Given the description of an element on the screen output the (x, y) to click on. 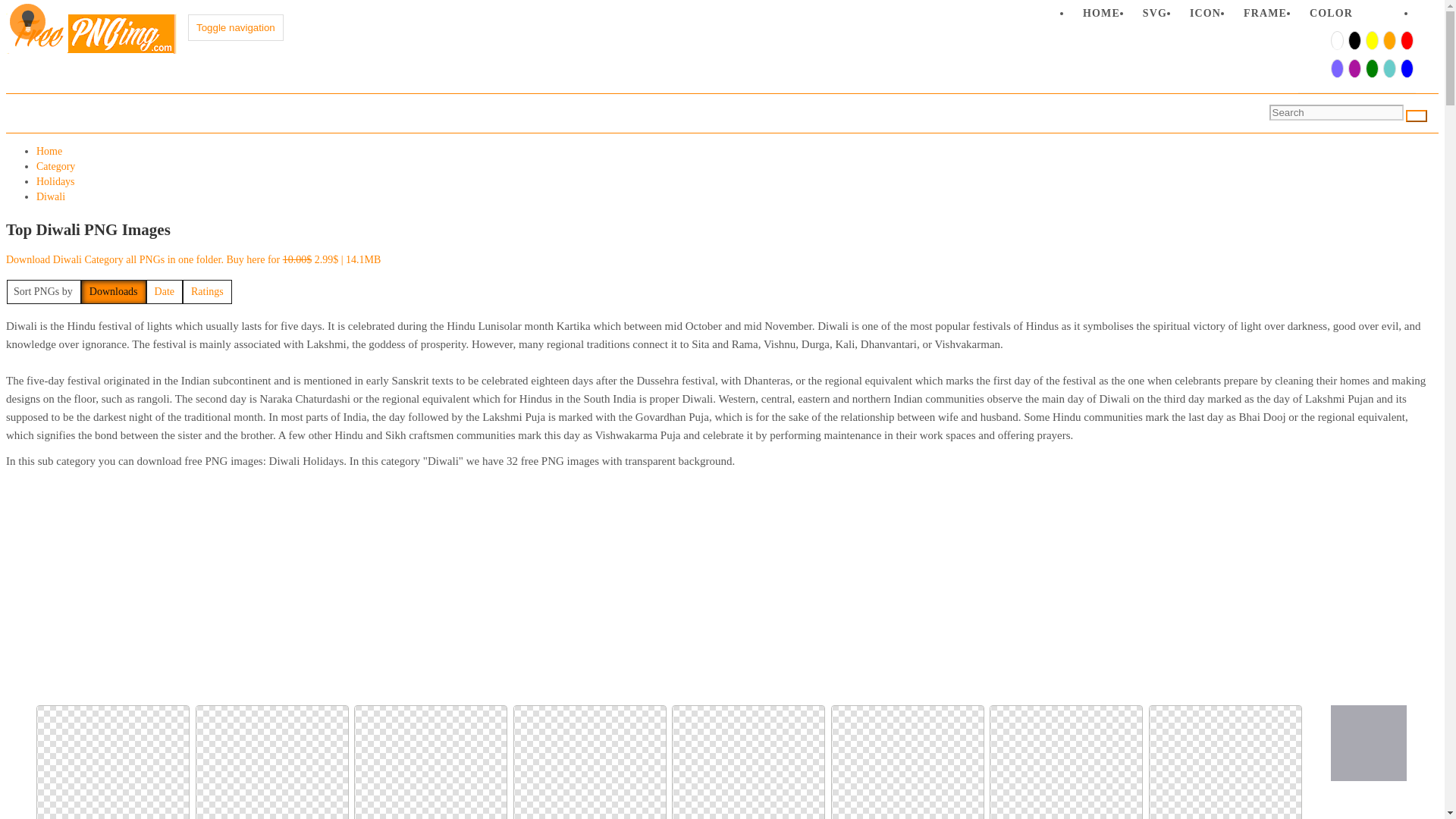
ICON (1204, 17)
Category (55, 165)
Date (165, 291)
SVG (1154, 17)
Holidays (55, 181)
Toggle navigation (235, 27)
Diwali (50, 196)
Downloads (114, 291)
Home (49, 151)
FRAME (1264, 17)
Ratings (207, 291)
COLOR (1331, 17)
HOME (1101, 17)
